Given the description of an element on the screen output the (x, y) to click on. 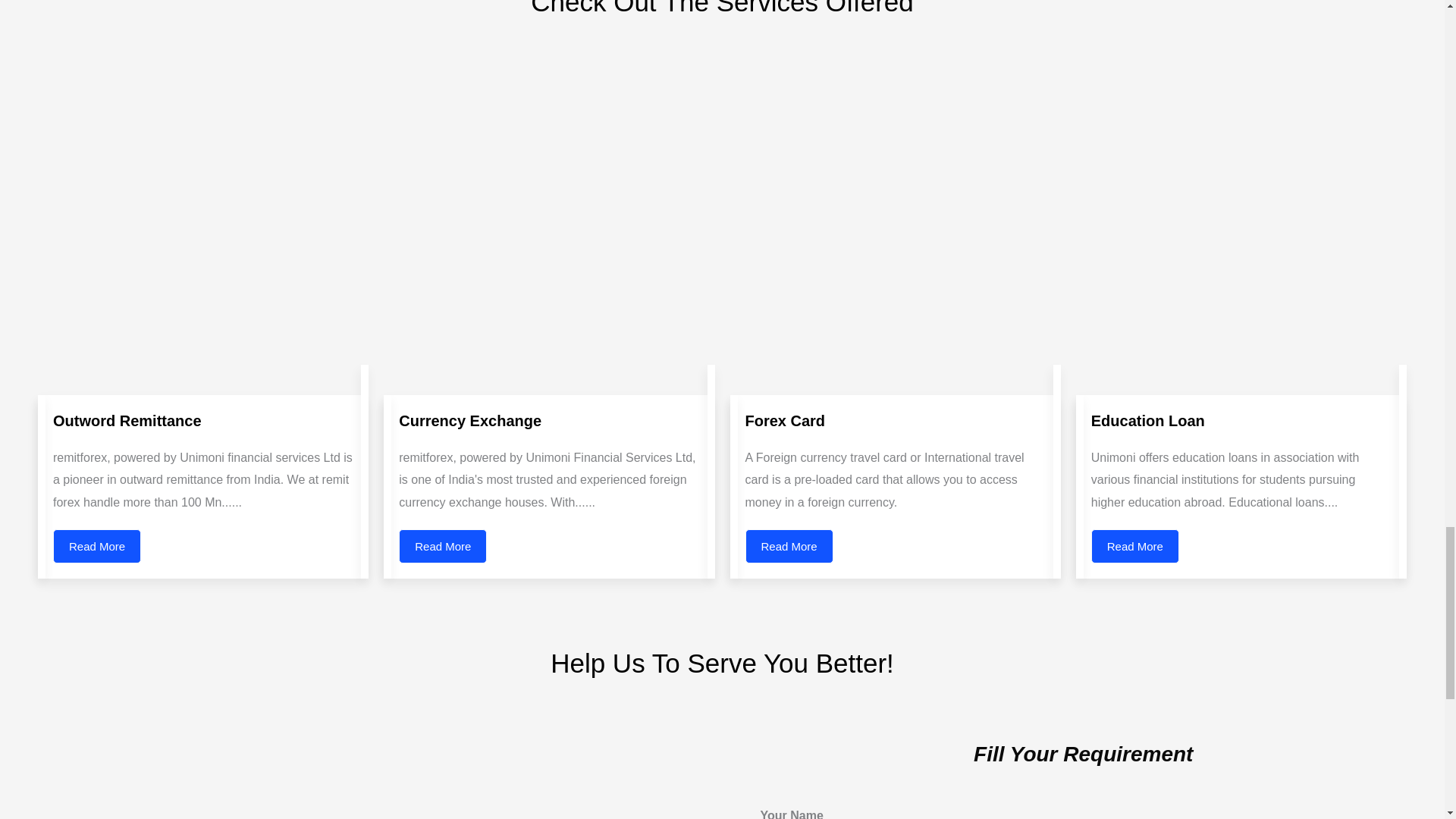
Read More (442, 546)
Read More (788, 546)
Read More (96, 546)
Read More (1134, 546)
